Given the description of an element on the screen output the (x, y) to click on. 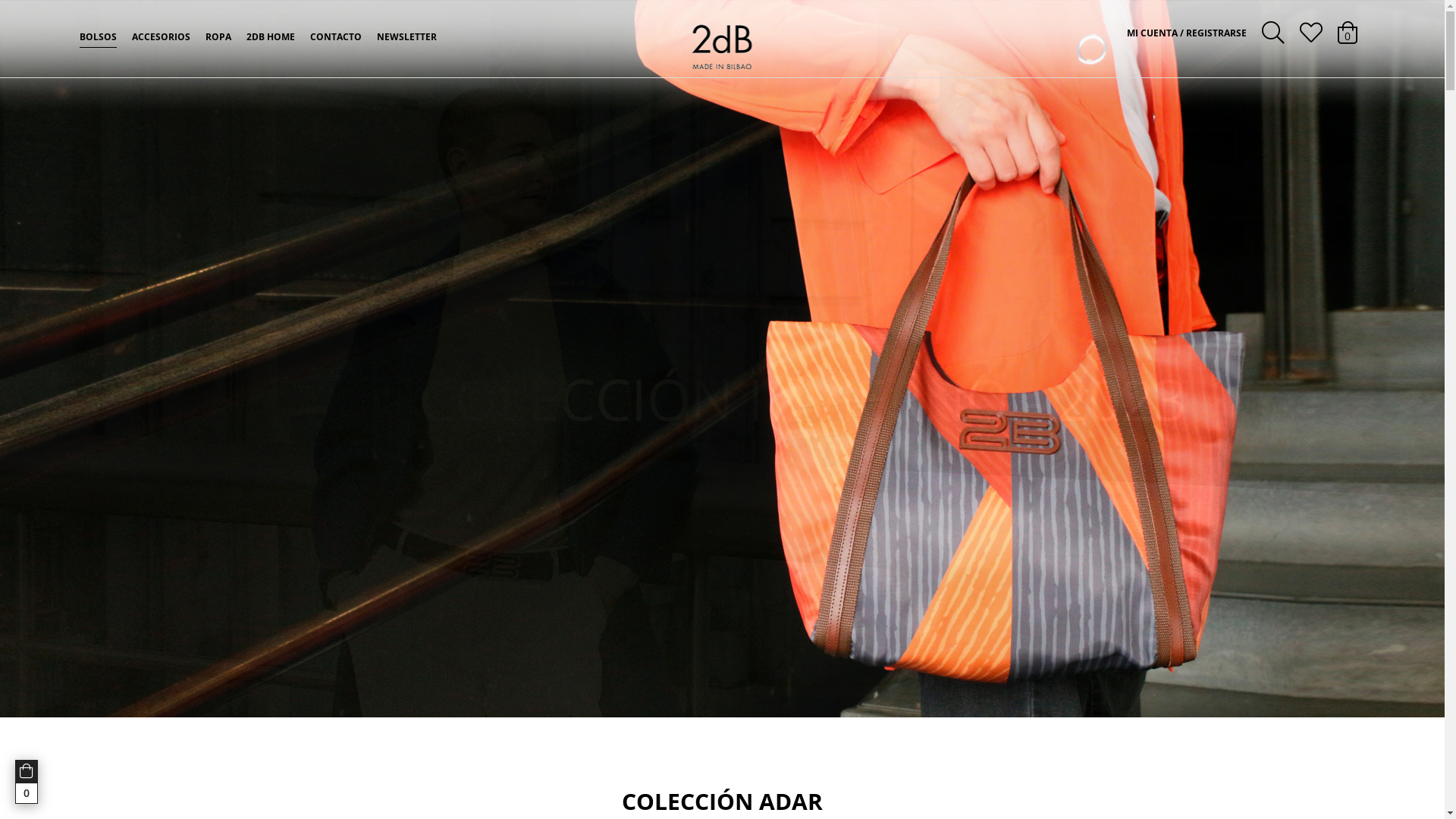
2DB HOME Element type: text (270, 36)
ROPA Element type: text (218, 36)
 REGISTRARSE Element type: text (1214, 33)
CONTACTO Element type: text (335, 36)
MI CUENTA Element type: text (1154, 33)
Lista de deseos Element type: hover (1310, 32)
ACCESORIOS Element type: text (160, 36)
NEWSLETTER Element type: text (406, 36)
BOLSOS Element type: text (97, 36)
